Given the description of an element on the screen output the (x, y) to click on. 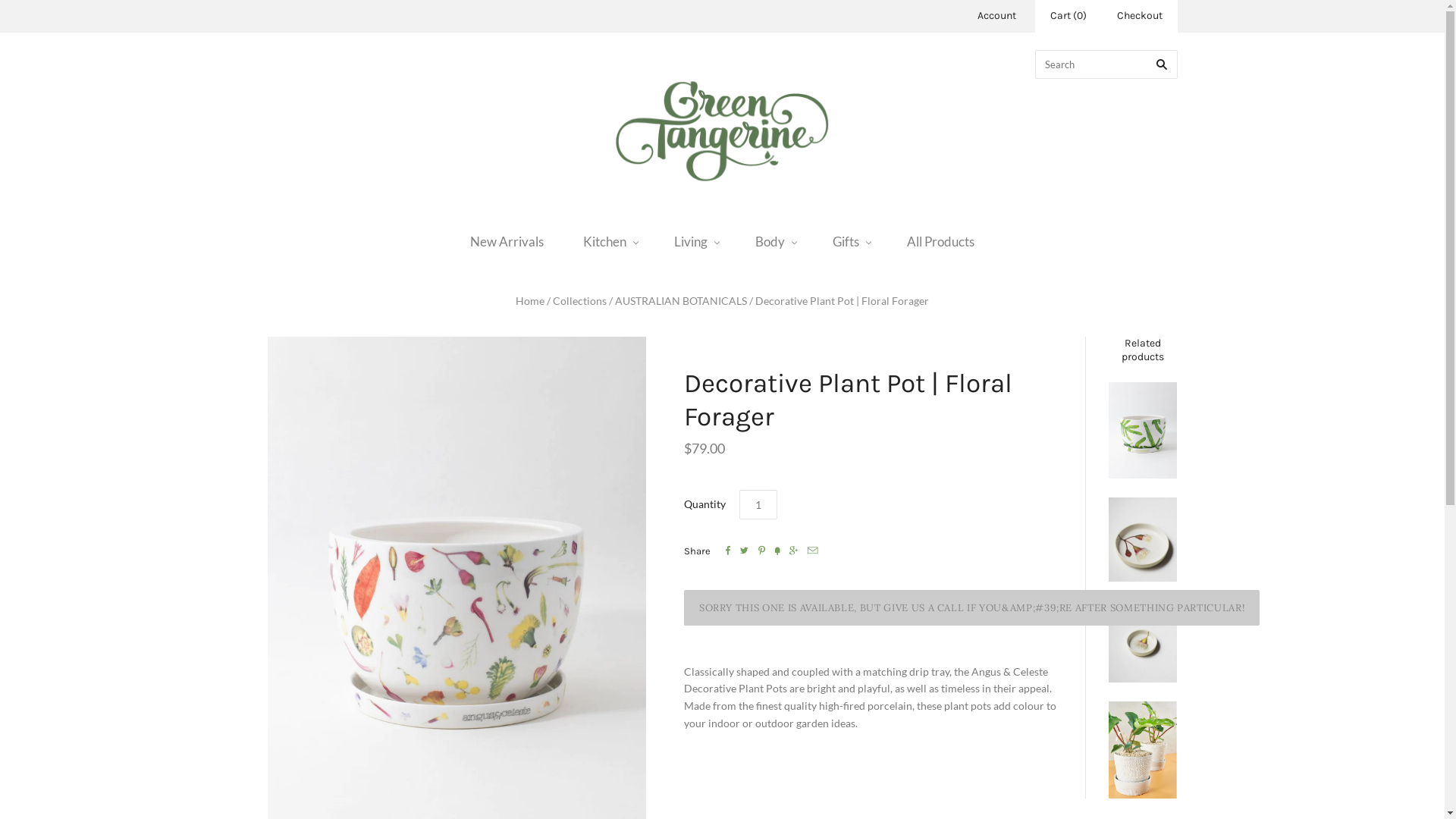
Account Element type: text (995, 15)
Cart (0) Element type: text (1067, 16)
Decorative Plant Pot | Monarch Fern Element type: hover (1142, 430)
AUSTRALIAN BOTANICALS Element type: text (680, 300)
Fairy Floss Gum Server Bowl Element type: hover (1142, 539)
Collections Element type: text (579, 300)
Kitchen Element type: text (608, 241)
Body Element type: text (773, 241)
Gifts Element type: text (849, 241)
Checkout Element type: text (1138, 16)
Fairy Floss Gum Bowl Element type: hover (1142, 641)
New Arrivals Element type: text (506, 241)
Living Element type: text (694, 241)
White-Water Bead Planter Pot Element type: hover (1142, 749)
Home Element type: text (529, 300)
All Products Element type: text (940, 241)
